Given the description of an element on the screen output the (x, y) to click on. 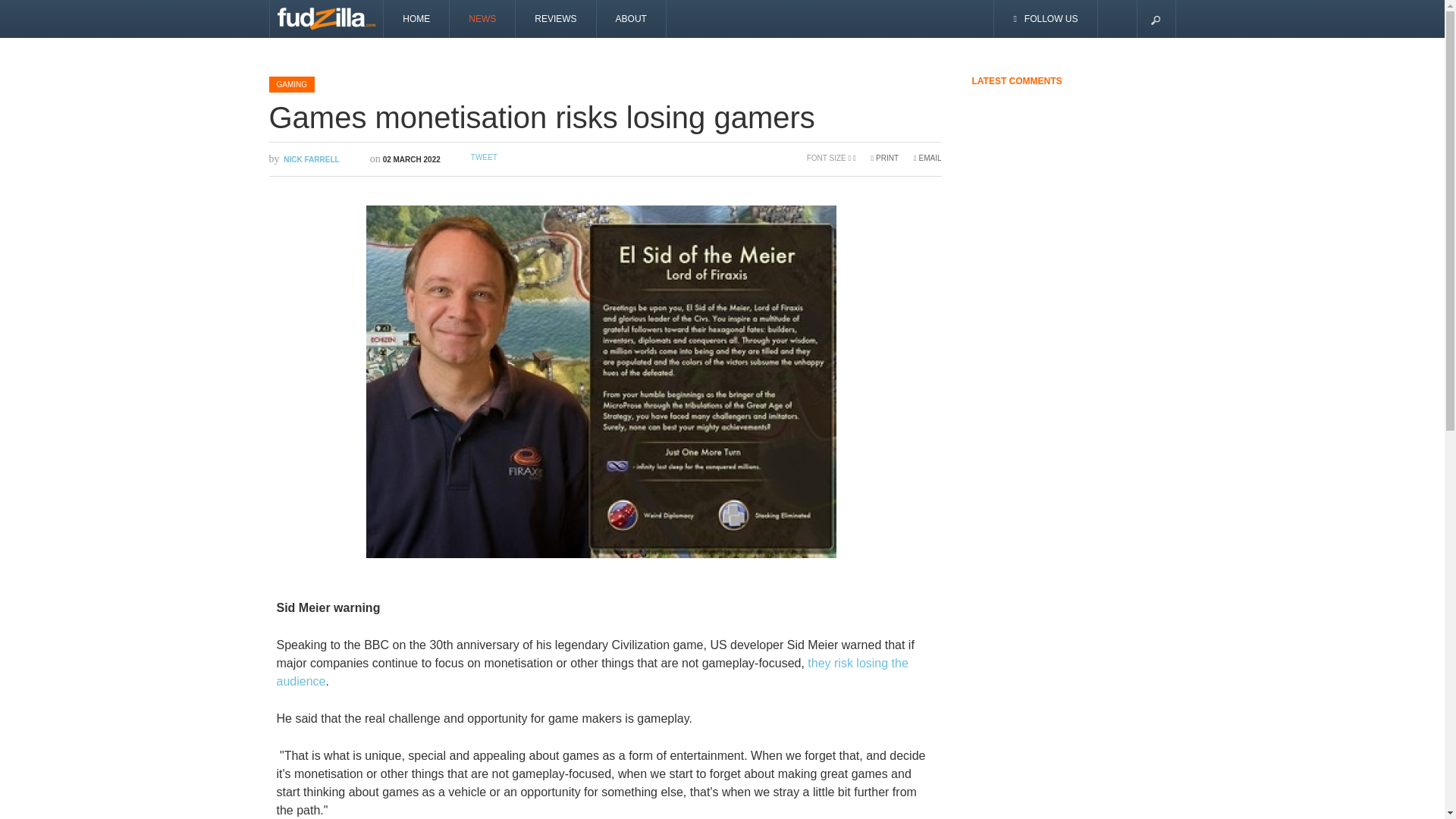
GAMING (291, 84)
NEWS (482, 18)
TWEET (483, 157)
REVIEWS (555, 18)
PRINT (884, 157)
they risk losing the audience (591, 671)
NICK FARRELL (311, 159)
FOLLOW US (1045, 18)
HOME (416, 18)
ABOUT (631, 18)
EMAIL (927, 157)
Fudzilla (326, 18)
